Given the description of an element on the screen output the (x, y) to click on. 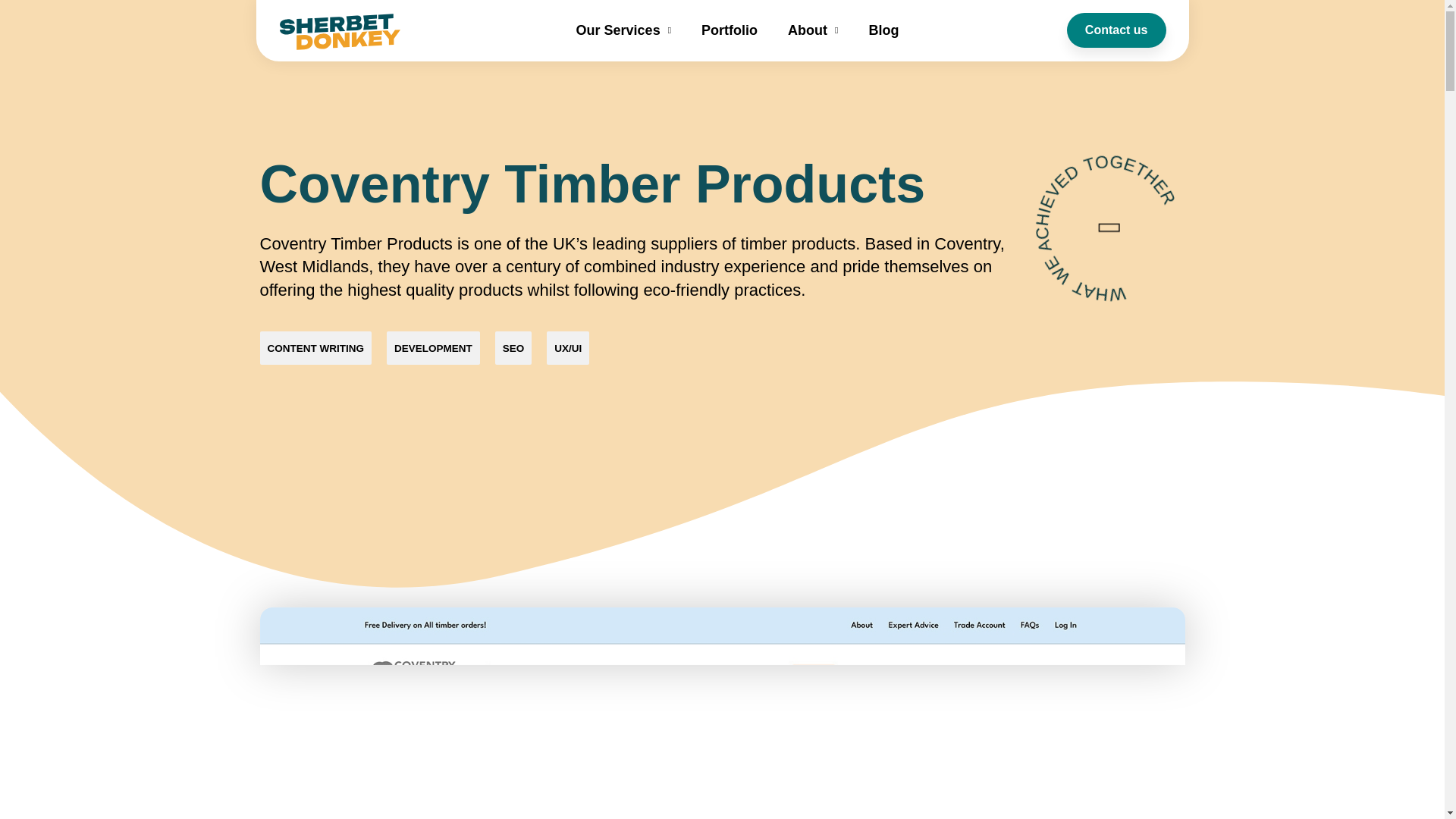
Portfolio (729, 30)
About (812, 30)
Contact us (1116, 30)
Blog (882, 30)
WHAT WE ACHIEVED TOGETHER (1108, 226)
Our Services (623, 30)
